Given the description of an element on the screen output the (x, y) to click on. 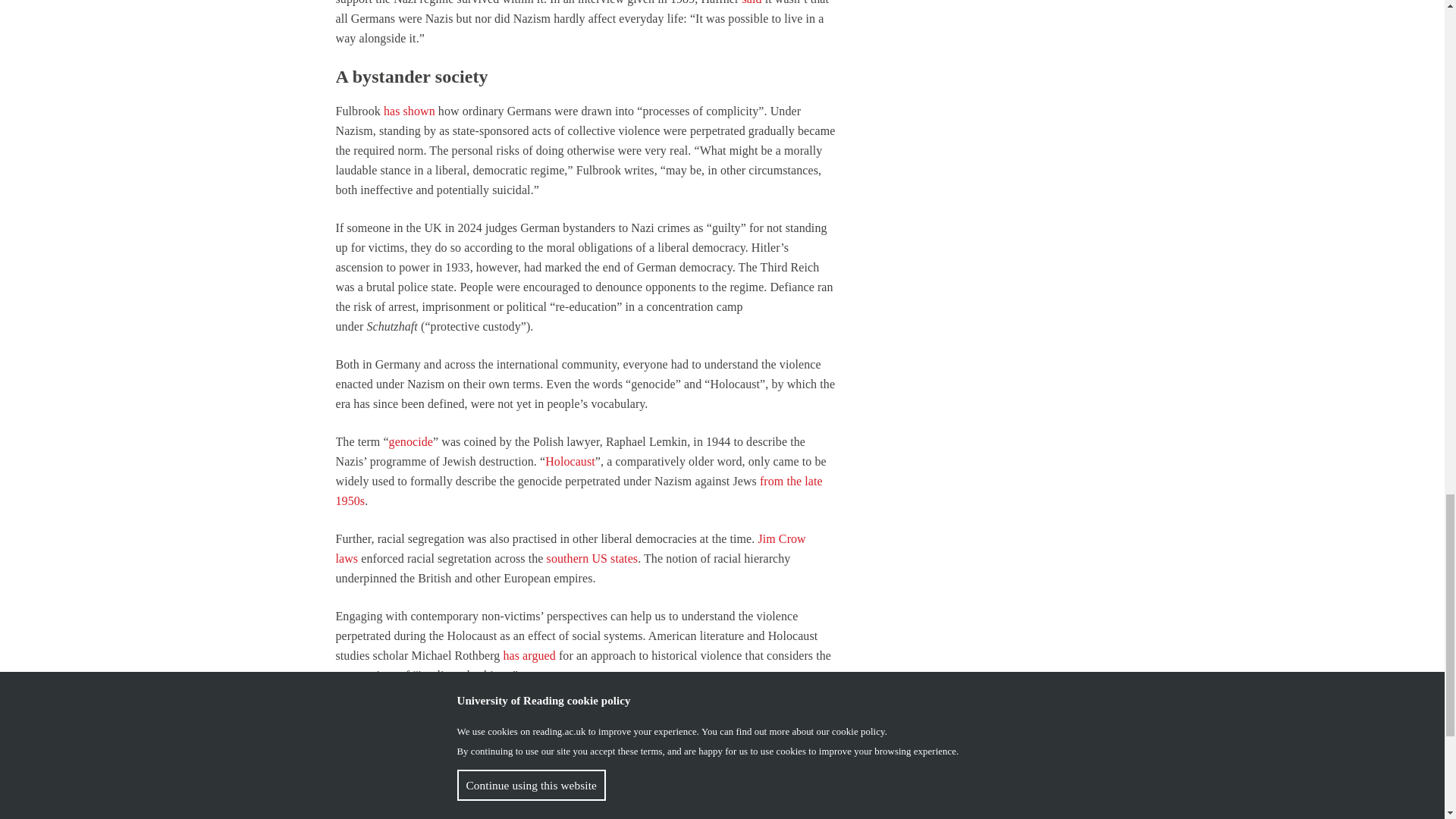
said (751, 2)
has argued (528, 655)
genocide (410, 440)
Jim Crow laws (569, 548)
Holocaust (569, 461)
from the late 1950s (578, 490)
southern US states (593, 558)
has shown (409, 110)
Ellen Pilsworth (376, 809)
